Given the description of an element on the screen output the (x, y) to click on. 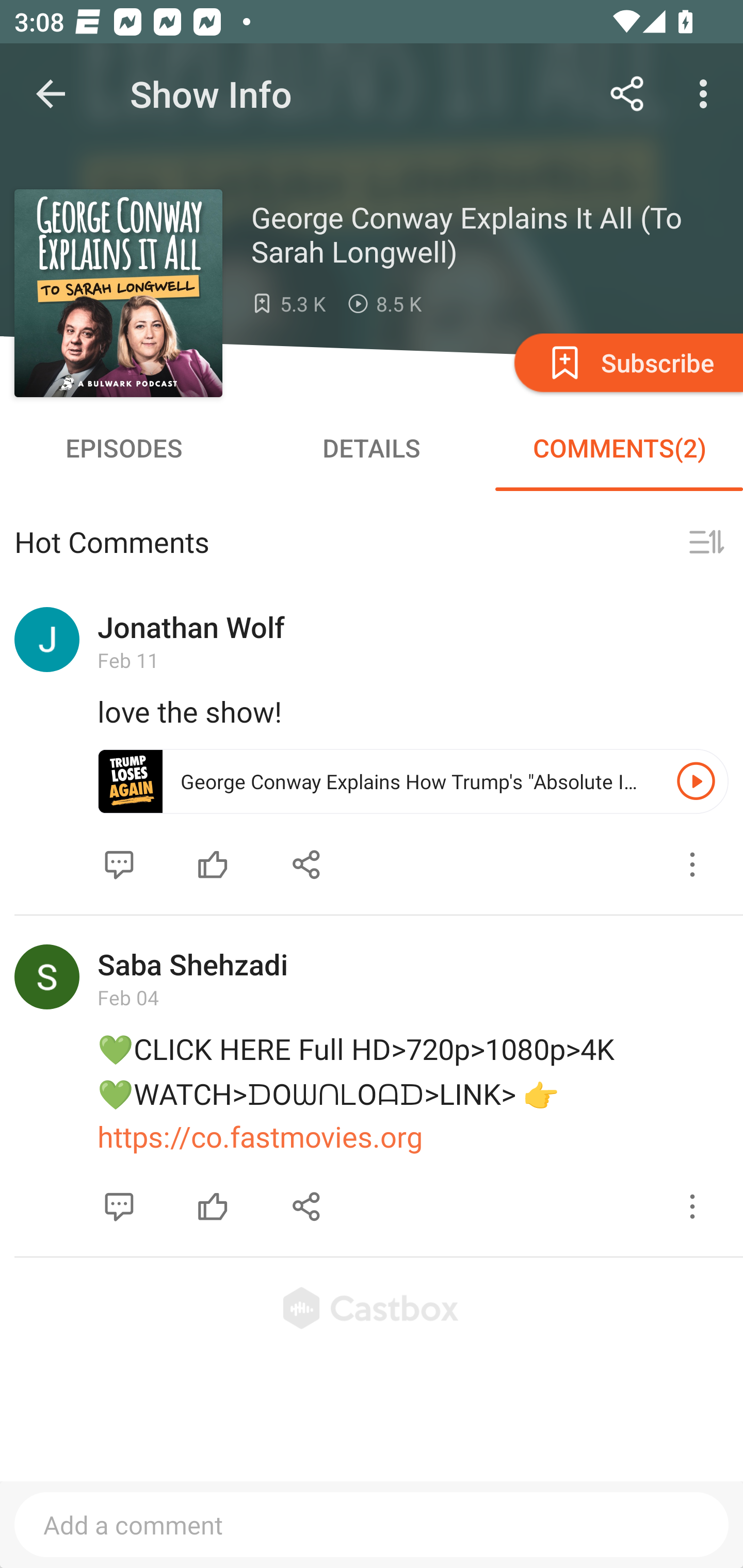
Navigate up (50, 93)
Share (626, 93)
More options (706, 93)
Subscribe (627, 361)
EPISODES (123, 447)
DETAILS (371, 447)
COMMENTS(2) (619, 447)
 (706, 542)
 (695, 780)
 (119, 864)
 (212, 864)
 (307, 864)
 (692, 864)
 (119, 1206)
 (212, 1206)
 (307, 1206)
 (692, 1206)
Add a comment (371, 1524)
